Given the description of an element on the screen output the (x, y) to click on. 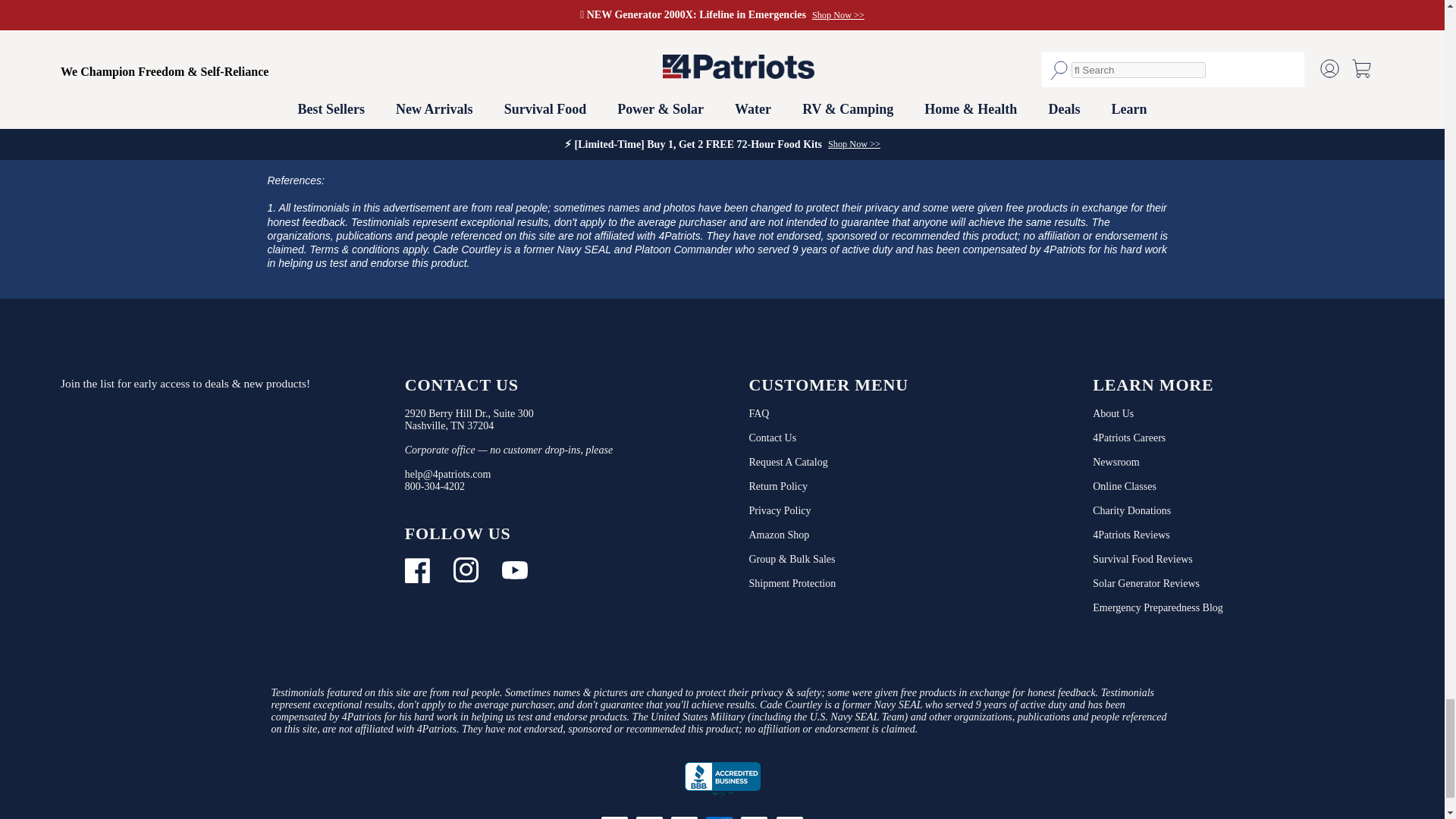
Shop Pay (826, 816)
4Patriots customer support (434, 486)
4Patriots, LLC., Online Retailer, Nashville, TN (722, 779)
